Given the description of an element on the screen output the (x, y) to click on. 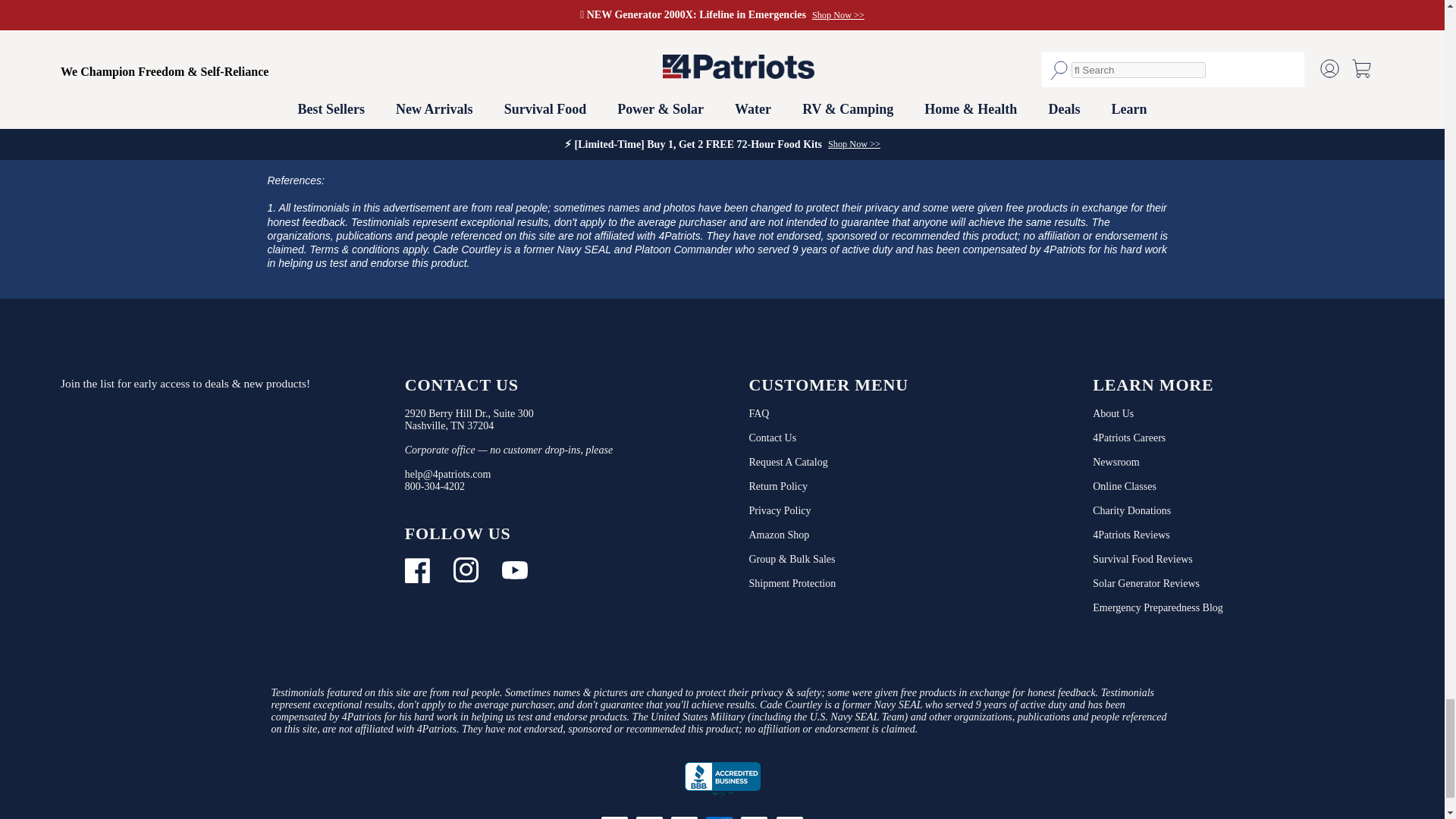
Shop Pay (826, 816)
4Patriots customer support (434, 486)
4Patriots, LLC., Online Retailer, Nashville, TN (722, 779)
